Given the description of an element on the screen output the (x, y) to click on. 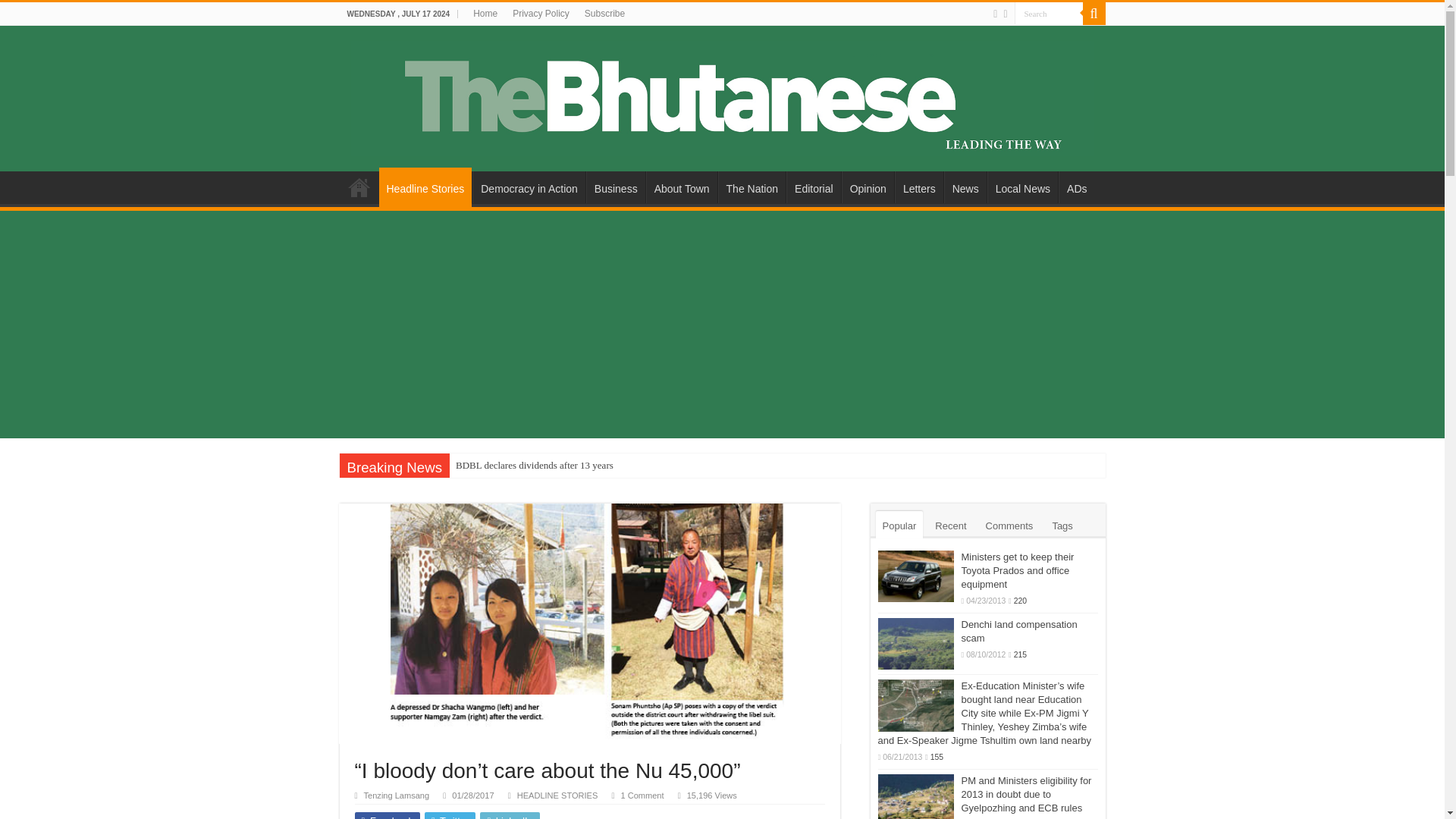
Search (1048, 13)
News (965, 187)
The Nation (751, 187)
Letters (919, 187)
Search (1048, 13)
The Bhutanese (721, 94)
Privacy Policy (540, 13)
ADs (1076, 187)
Home (485, 13)
Subscribe (603, 13)
BDBL declares dividends after 13 years (534, 465)
Headline Stories (424, 187)
Search (1048, 13)
Business (615, 187)
Opinion (867, 187)
